Given the description of an element on the screen output the (x, y) to click on. 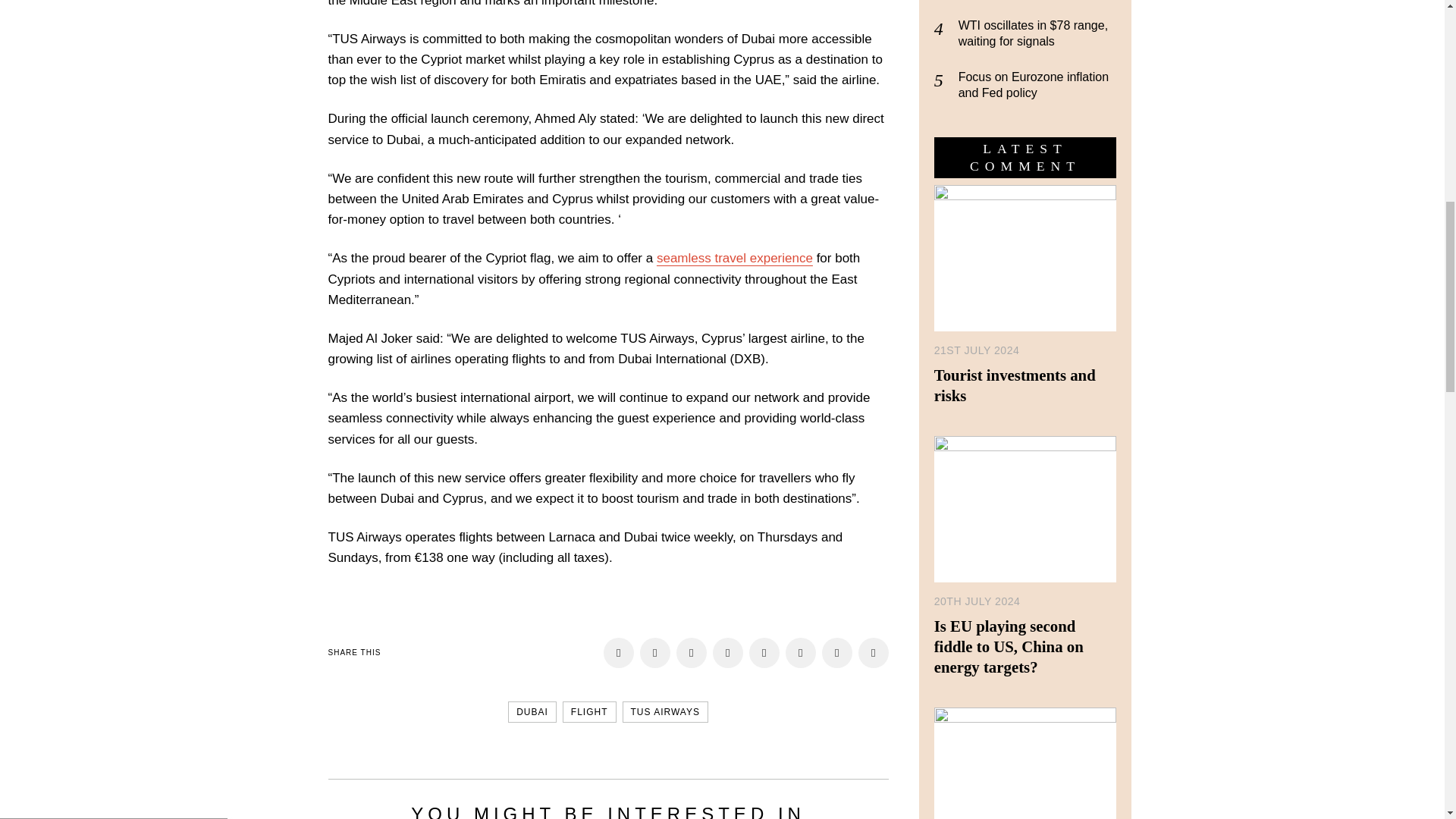
Whatsapp (800, 653)
Linkedin (763, 653)
Pinterest (727, 653)
seamless travel experience (734, 257)
Facebook (1396, 20)
Email (618, 653)
Twitter (836, 653)
Reddit (691, 653)
Messenger (873, 653)
